Given the description of an element on the screen output the (x, y) to click on. 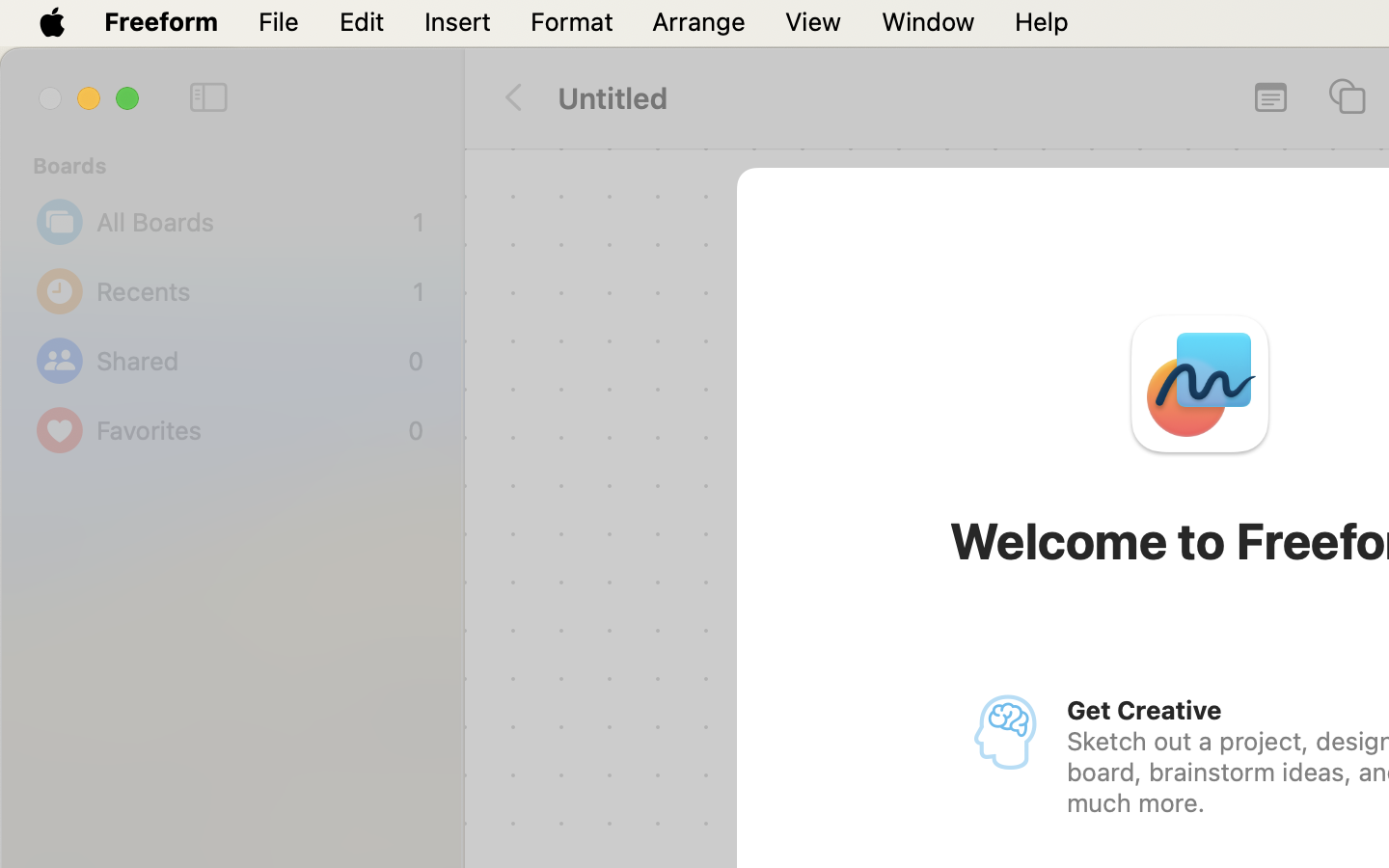
Get Creative Element type: AXStaticText (1143, 709)
Boards Element type: AXStaticText (242, 165)
All Boards Element type: AXStaticText (249, 221)
Favorites Element type: AXStaticText (246, 429)
